Given the description of an element on the screen output the (x, y) to click on. 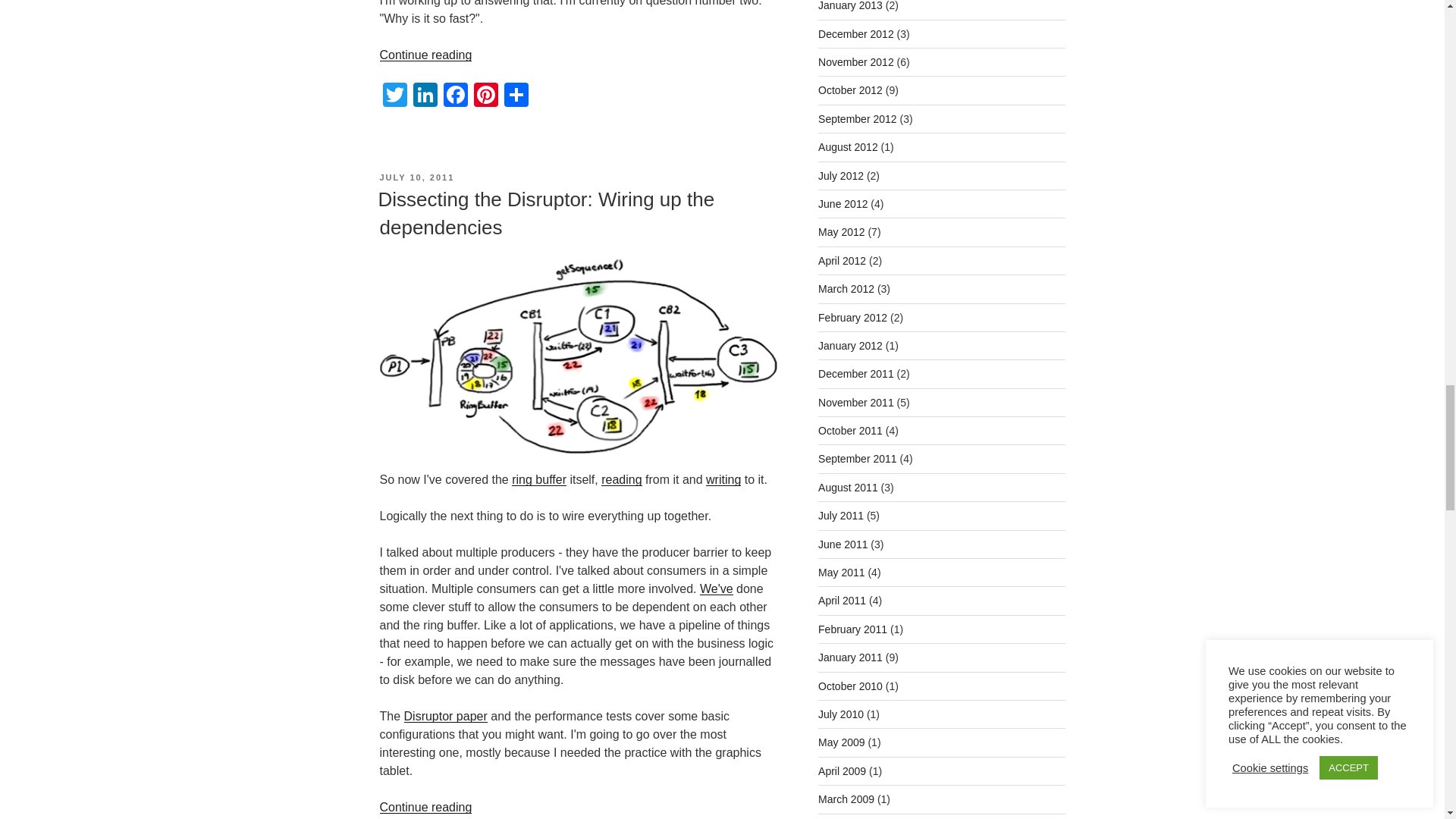
Twitter (393, 96)
LinkedIn (424, 96)
Facebook (454, 96)
Pinterest (485, 96)
